Given the description of an element on the screen output the (x, y) to click on. 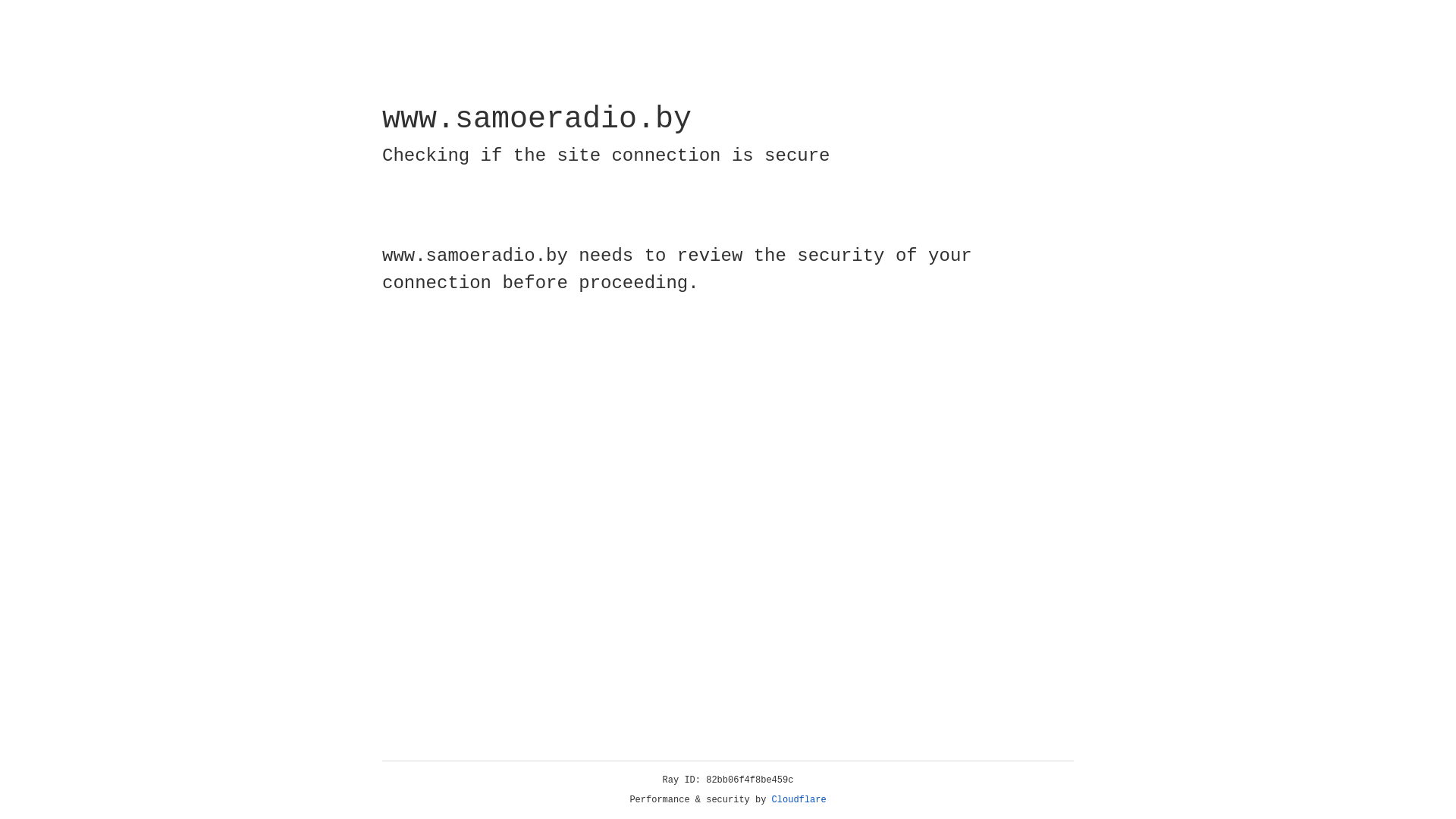
Cloudflare Element type: text (798, 799)
